Given the description of an element on the screen output the (x, y) to click on. 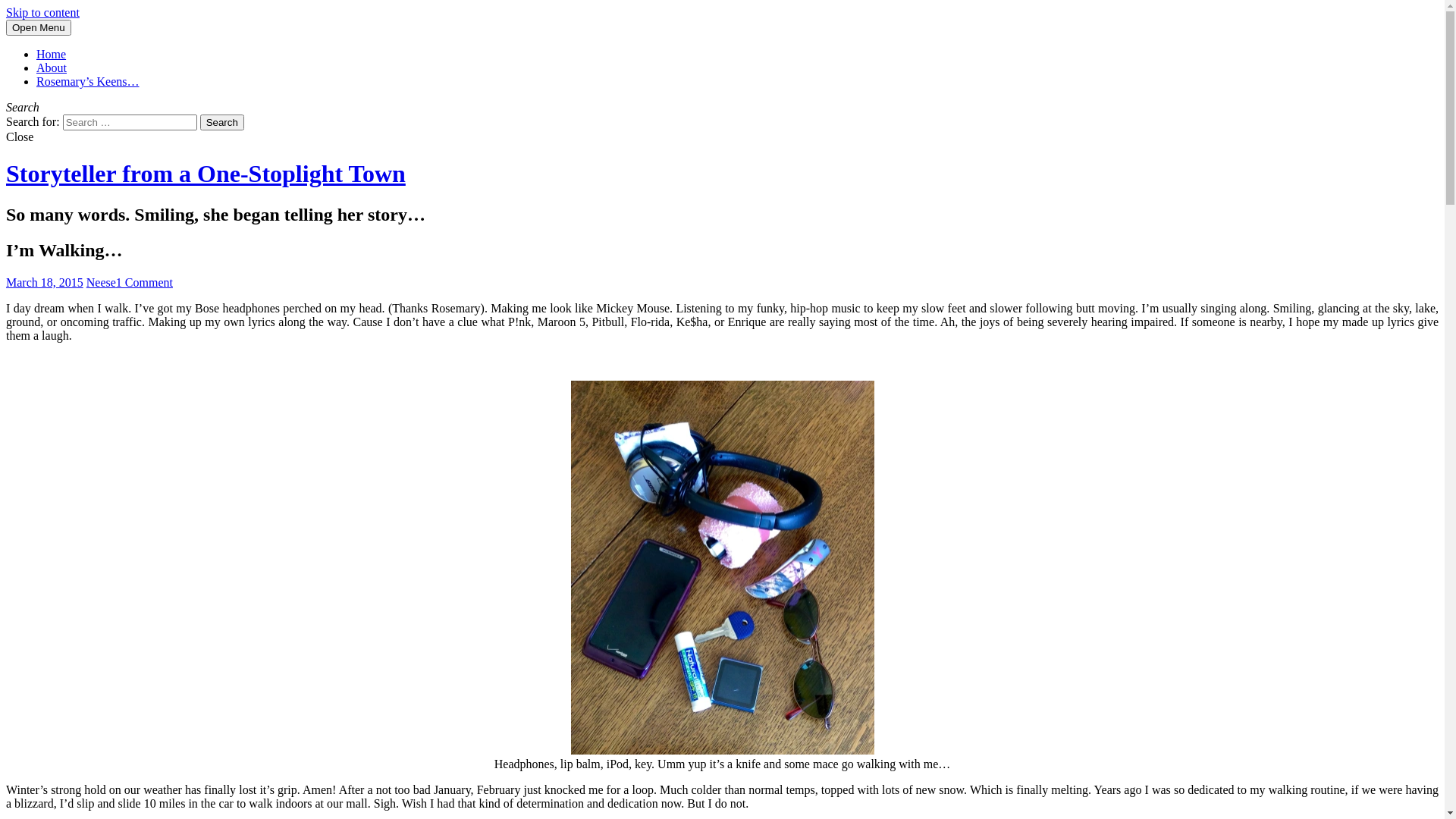
March 18, 2015 Element type: text (44, 282)
Open Menu Element type: text (38, 27)
Search Element type: text (222, 122)
Storyteller from a One-Stoplight Town Element type: text (205, 173)
About Element type: text (51, 67)
Close Element type: text (19, 136)
Neese Element type: text (101, 282)
Home Element type: text (50, 53)
Skip to content Element type: text (42, 12)
1 Comment Element type: text (144, 282)
